Given the description of an element on the screen output the (x, y) to click on. 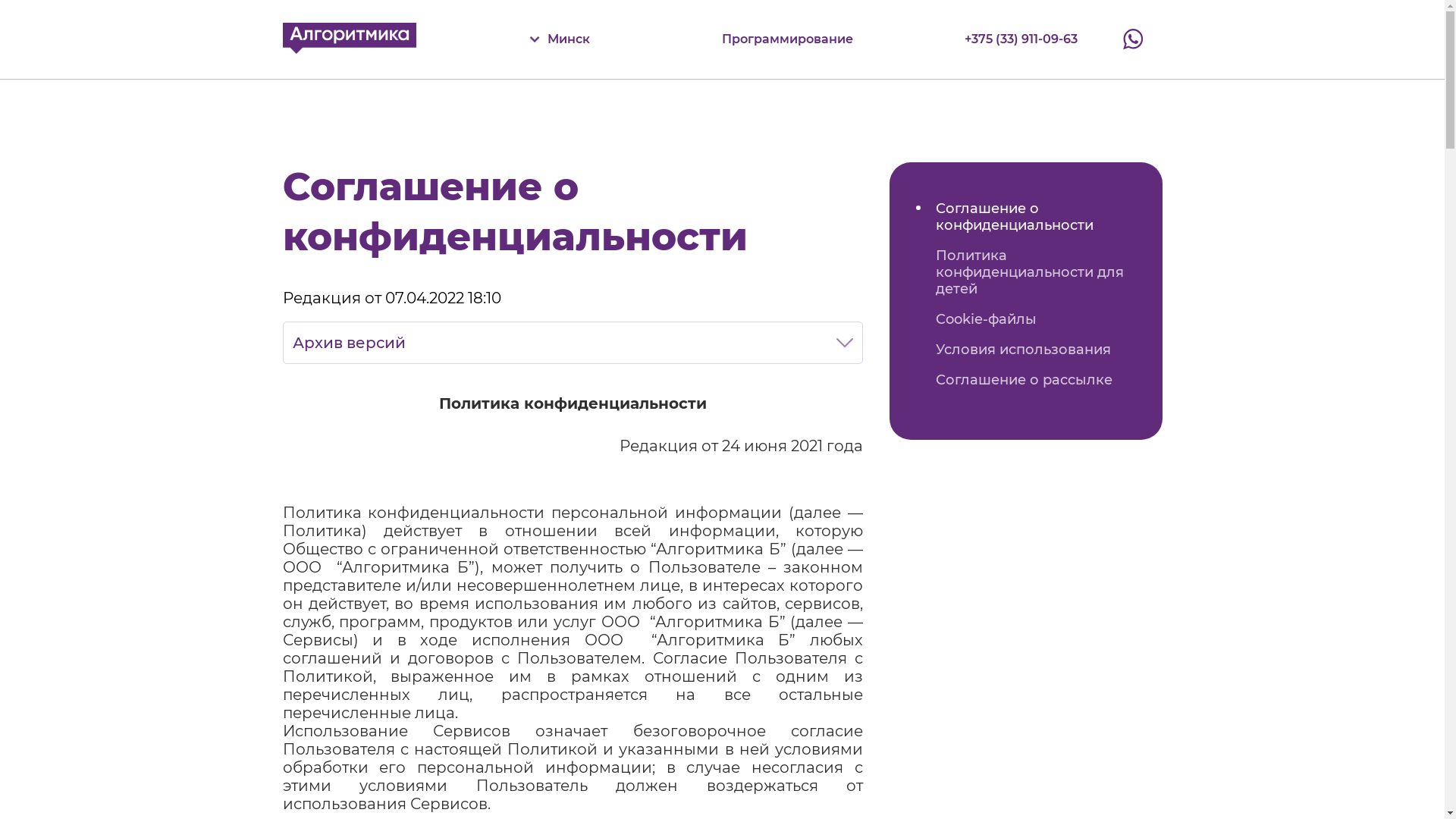
+375 (33) 911-09-63 Element type: text (1020, 39)
Algoritmika Element type: hover (348, 37)
